Given the description of an element on the screen output the (x, y) to click on. 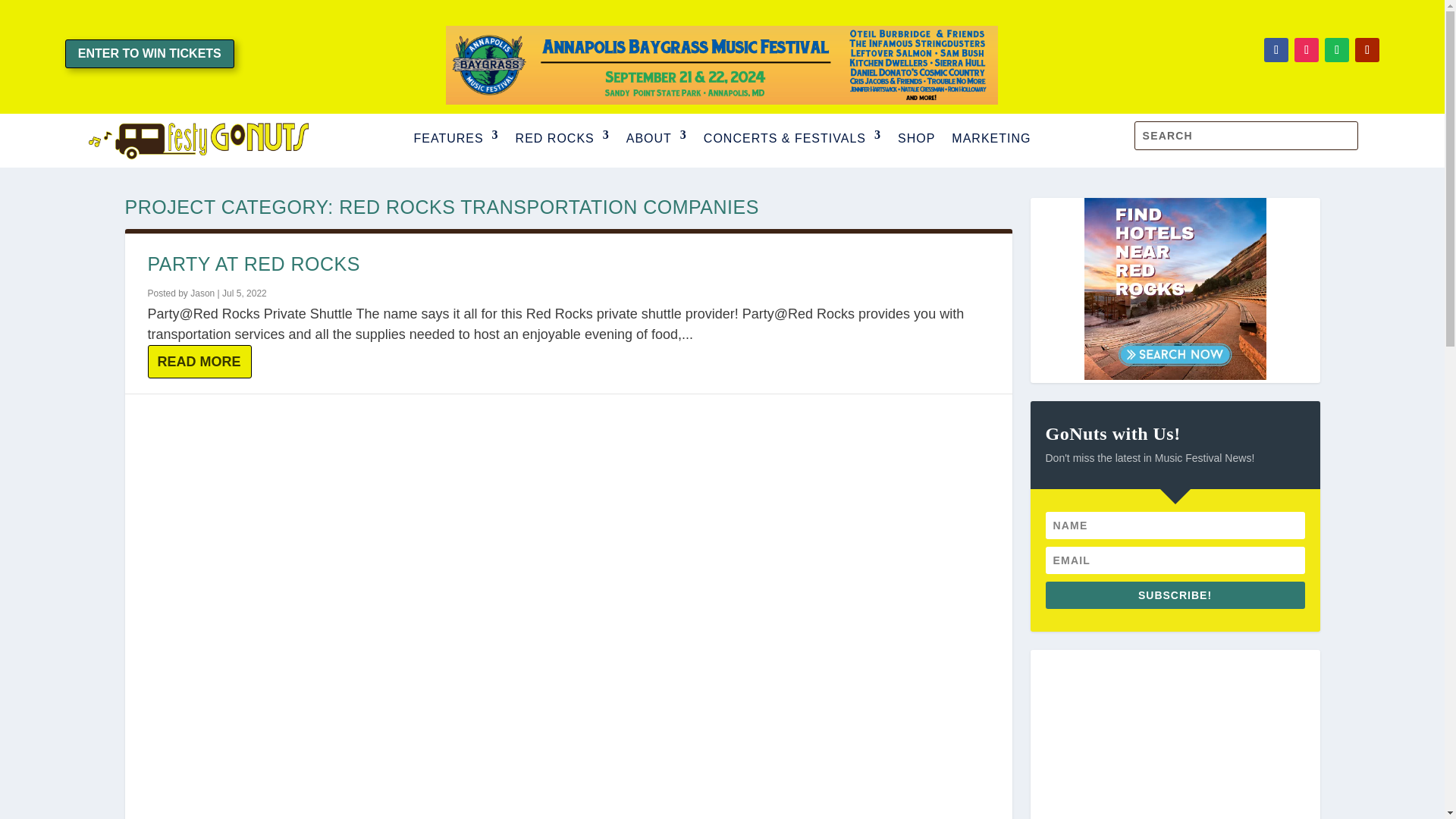
ABOUT (656, 139)
Spotify Embed: GoNuts for New Music: Summer 2024 (1174, 734)
FEATURES (455, 139)
Follow on Instagram (1306, 49)
RED ROCKS (562, 139)
Festy GoNuts (197, 140)
ENTER TO WIN TICKETS (149, 53)
Follow on Facebook (1275, 49)
Follow on Spotify (1336, 49)
Posts by Jason (202, 293)
